Given the description of an element on the screen output the (x, y) to click on. 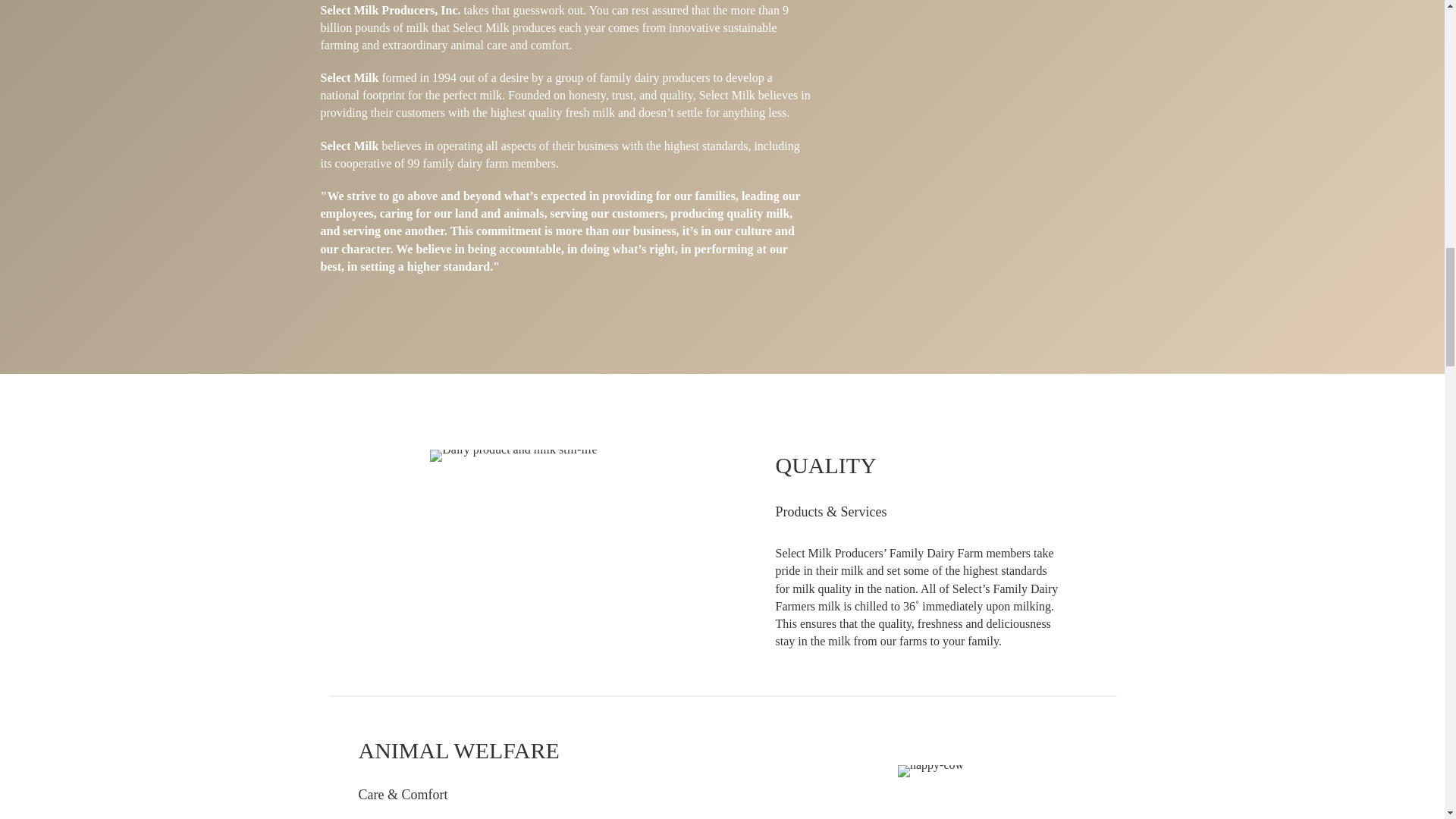
120125056 (512, 455)
happy-cow (930, 770)
